Given the description of an element on the screen output the (x, y) to click on. 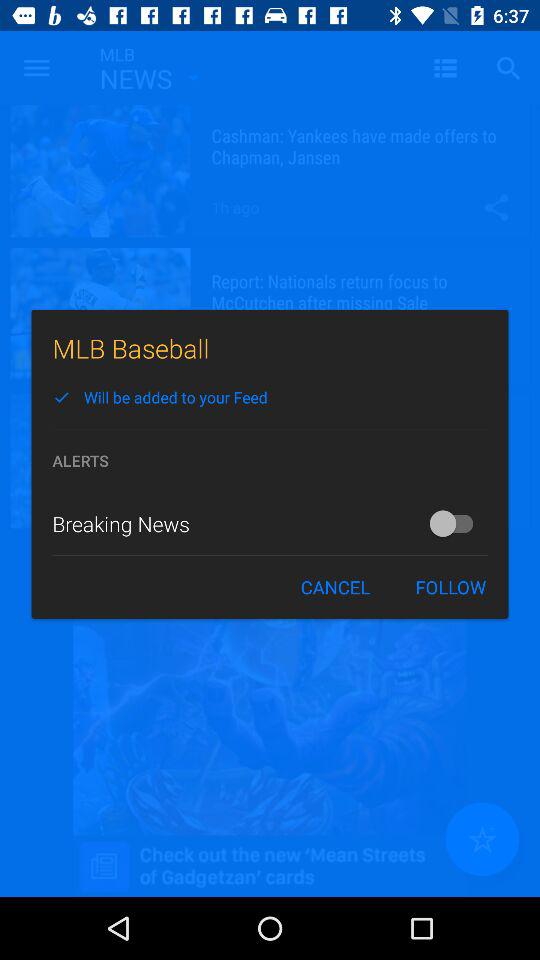
go to offline (456, 523)
